Given the description of an element on the screen output the (x, y) to click on. 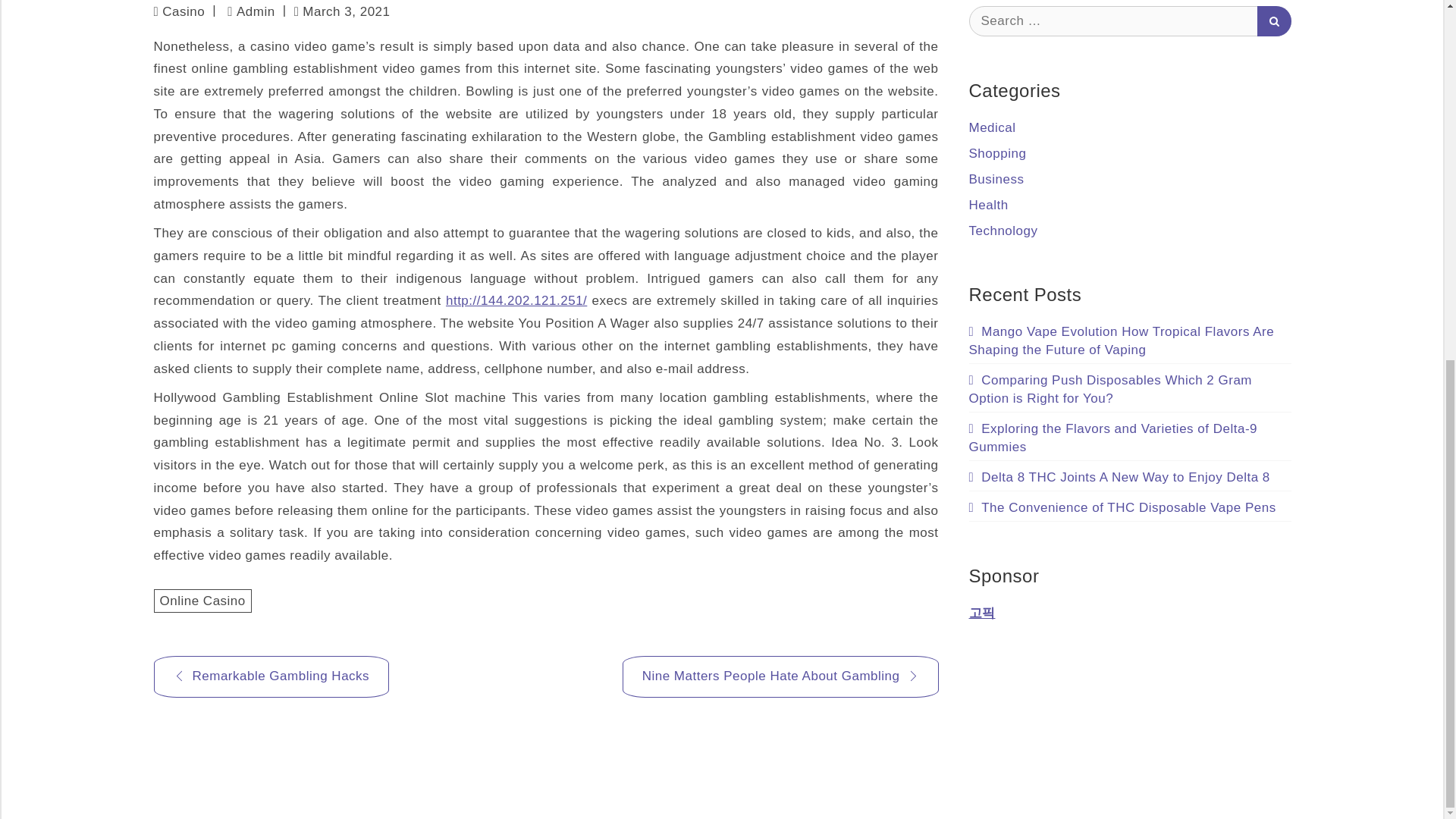
Technology (1003, 230)
March 3, 2021 (342, 12)
Remarkable Gambling Hacks (270, 676)
Admin (251, 11)
The Convenience of THC Disposable Vape Pens (1122, 506)
Delta 8 THC Joints A New Way to Enjoy Delta 8 (1119, 476)
Casino (183, 11)
Shopping (997, 153)
Search (1274, 20)
Health (989, 205)
